Given the description of an element on the screen output the (x, y) to click on. 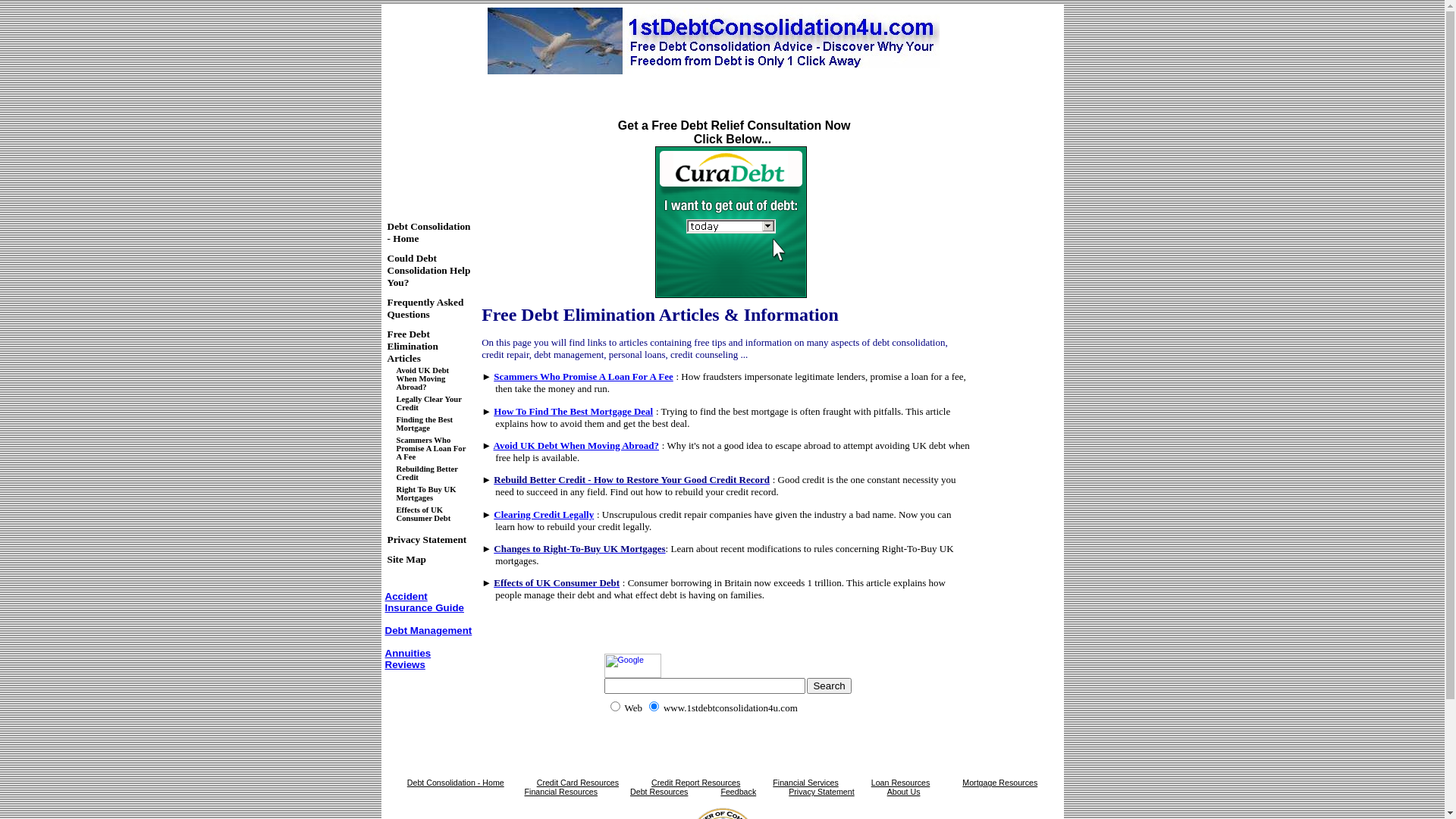
Feedback Element type: text (738, 791)
Privacy Statement Element type: text (426, 539)
Accident Insurance Guide Element type: text (424, 601)
Clearing Credit Legally Element type: text (543, 514)
Financial Resources Element type: text (561, 791)
Scammers Who Promise A Loan For A Fee Element type: text (430, 448)
About Us Element type: text (903, 791)
Changes to Right-To-Buy UK Mortgages Element type: text (579, 548)
Debt Consolidation - Home Element type: text (455, 782)
Debt Resources Element type: text (658, 791)
Avoid UK Debt When Moving Abroad? Element type: text (421, 378)
Credit Report Resources Element type: text (695, 782)
Search Element type: text (828, 685)
Legally Clear Your Credit Element type: text (428, 403)
Could Debt Consolidation Help You? Element type: text (428, 270)
Annuities Reviews Element type: text (408, 658)
Mortgage Resources Element type: text (999, 782)
Rebuilding Better Credit Element type: text (426, 472)
Scammers Who Promise A Loan For A Fee Element type: text (583, 376)
Effects of UK Consumer Debt Element type: text (422, 513)
Google Element type: hover (632, 665)
Debt Management Element type: text (428, 630)
How To Find The Best Mortgage Deal Element type: text (572, 411)
Credit Card Resources Element type: text (577, 782)
Privacy Statement Element type: text (820, 791)
Site Map Element type: text (405, 558)
Frequently Asked Questions Element type: text (424, 308)
Debt Consolidation - Home Element type: text (428, 232)
Avoid UK Debt When Moving Abroad? Element type: text (576, 445)
Effects of UK Consumer Debt Element type: text (556, 582)
Loan Resources Element type: text (900, 782)
Financial Services Element type: text (804, 782)
Free Debt Elimination Articles Element type: text (411, 346)
Right To Buy UK Mortgages Element type: text (425, 493)
Finding the Best Mortgage Element type: text (423, 423)
